Given the description of an element on the screen output the (x, y) to click on. 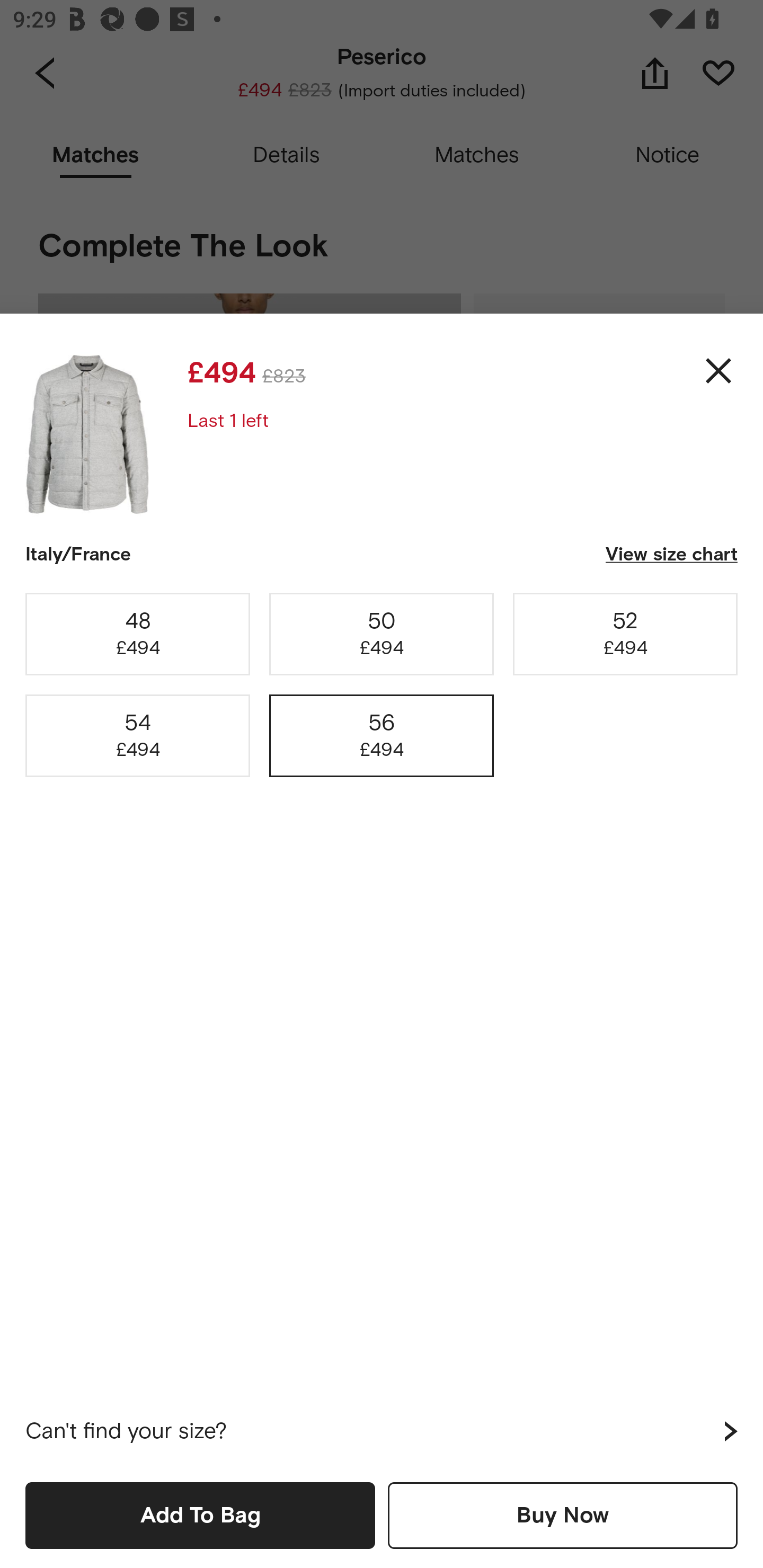
48 £494 (137, 633)
50 £494 (381, 633)
52 £494 (624, 633)
54 £494 (137, 735)
56 £494 (381, 735)
Can't find your size? (381, 1431)
Add To Bag (200, 1515)
Buy Now (562, 1515)
